Given the description of an element on the screen output the (x, y) to click on. 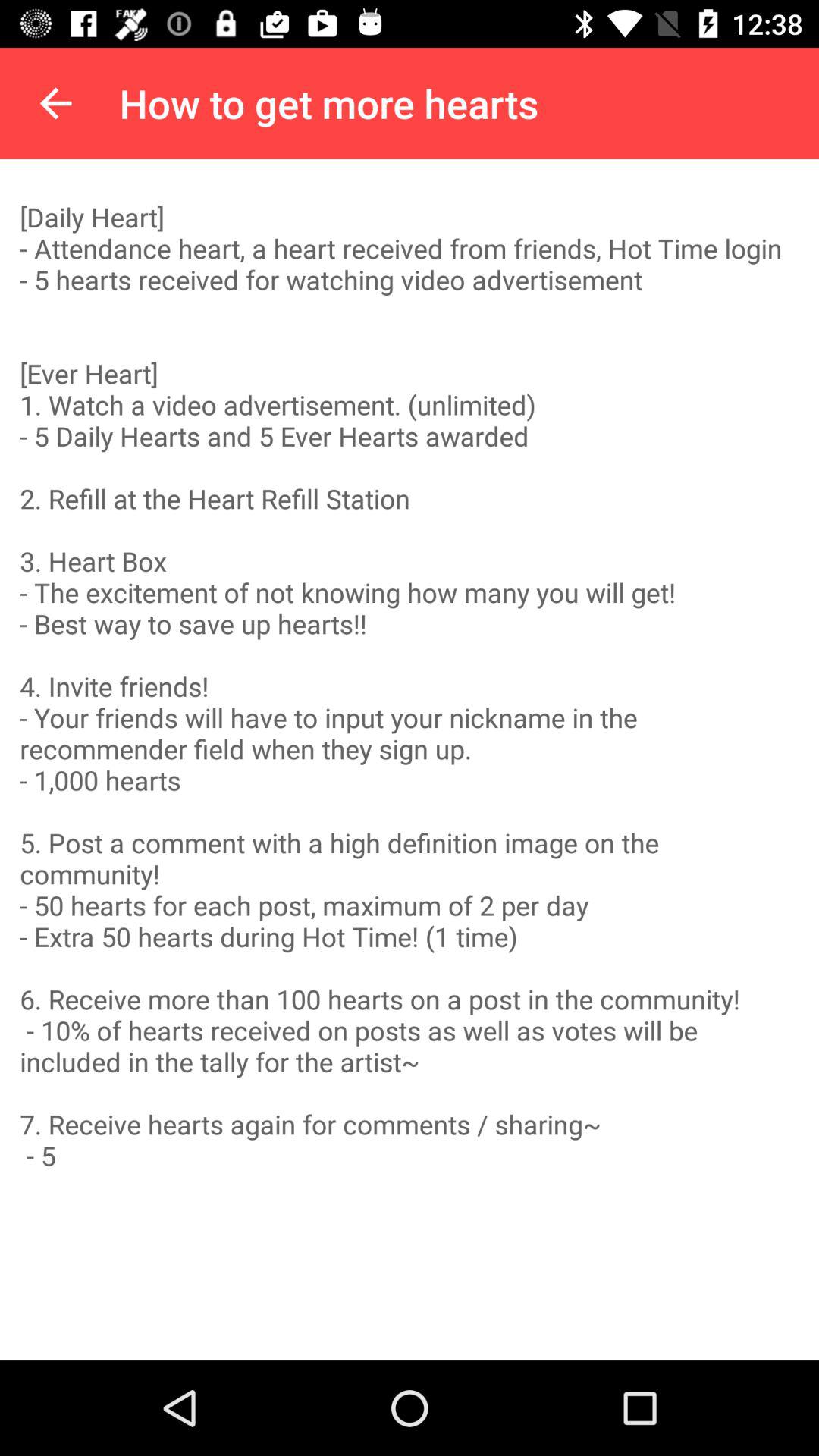
select the item to the left of how to get item (55, 103)
